Given the description of an element on the screen output the (x, y) to click on. 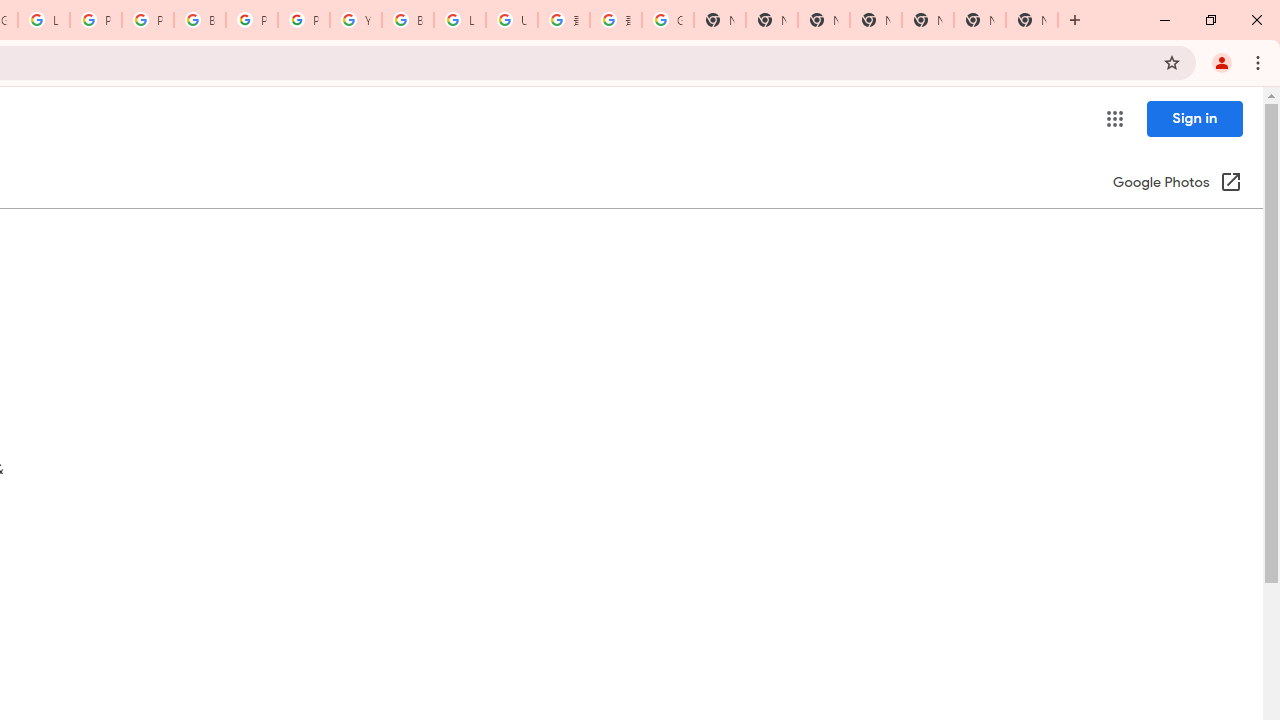
Google Images (667, 20)
YouTube (355, 20)
Privacy Help Center - Policies Help (147, 20)
New Tab (875, 20)
